Given the description of an element on the screen output the (x, y) to click on. 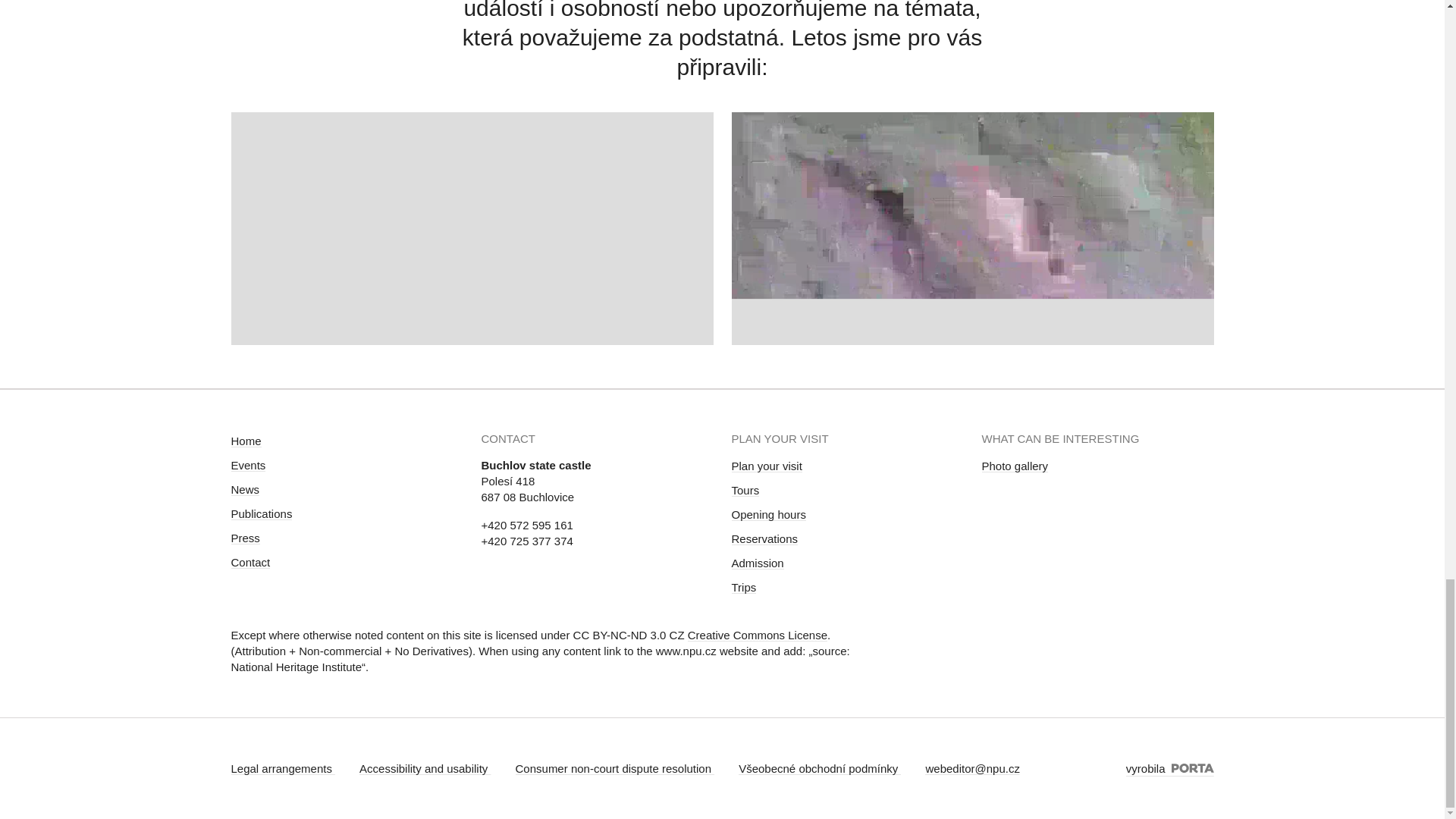
Accessibility and usability  (424, 768)
Legal arrangements (282, 768)
